Given the description of an element on the screen output the (x, y) to click on. 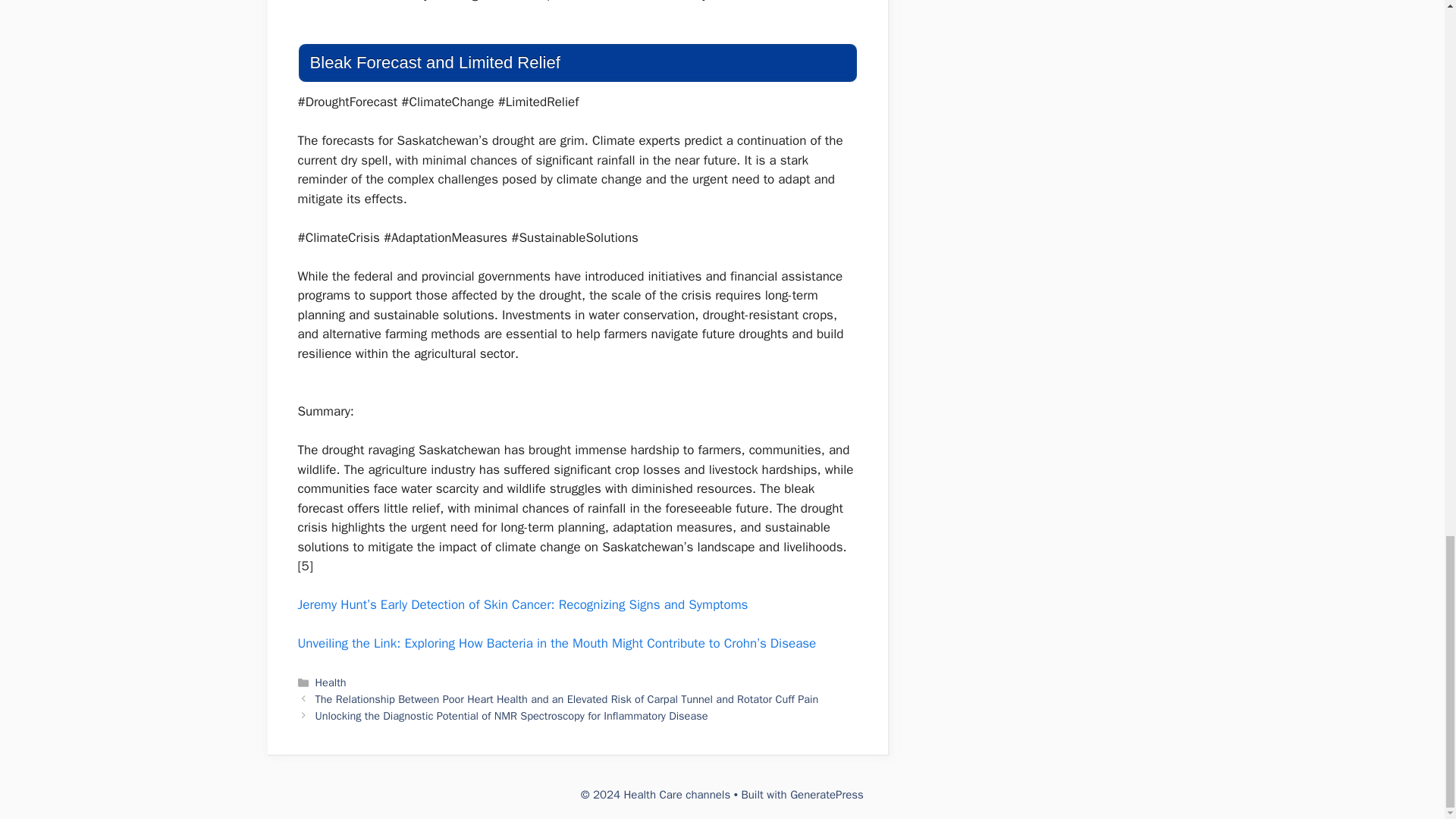
Health (330, 682)
GeneratePress (826, 794)
